Given the description of an element on the screen output the (x, y) to click on. 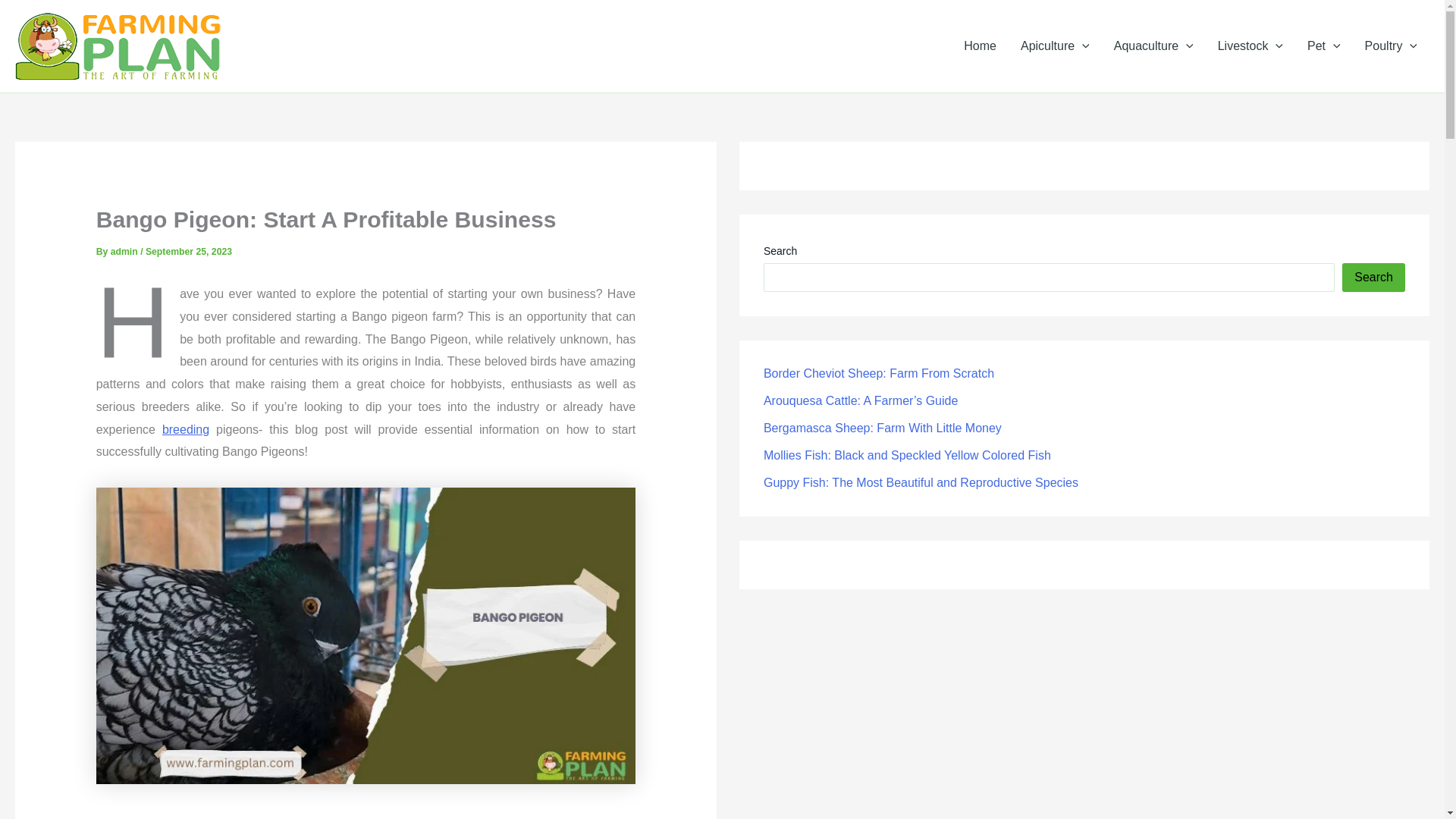
Pet (1323, 45)
breeding (185, 429)
admin (124, 251)
Livestock (1250, 45)
Poultry (1390, 45)
Home (980, 45)
Aquaculture (1153, 45)
View all posts by admin (124, 251)
Apiculture (1055, 45)
